Given the description of an element on the screen output the (x, y) to click on. 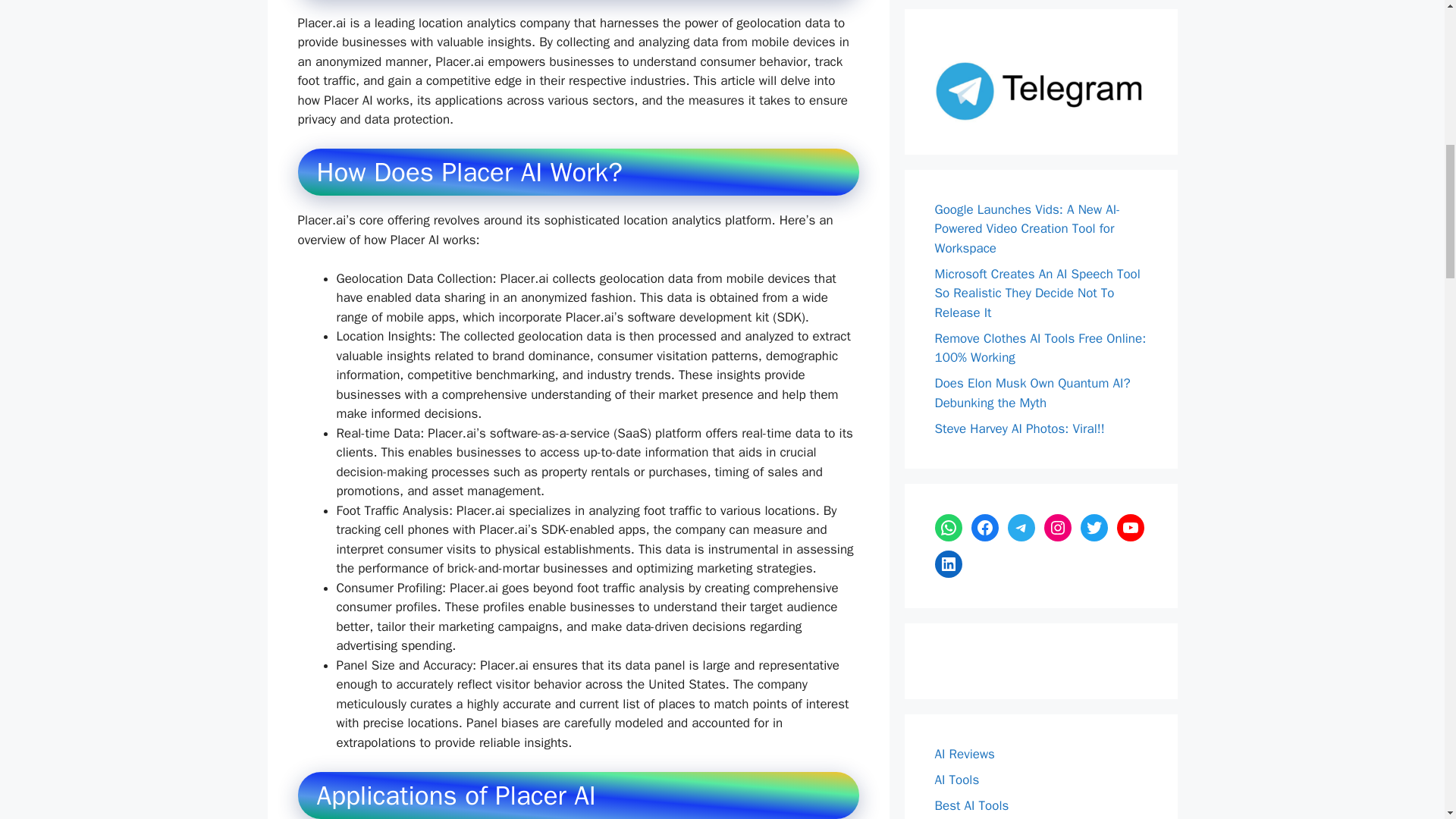
Does Elon Musk Own Quantum AI? Debunking the Myth (1031, 393)
Scroll back to top (1406, 720)
